Given the description of an element on the screen output the (x, y) to click on. 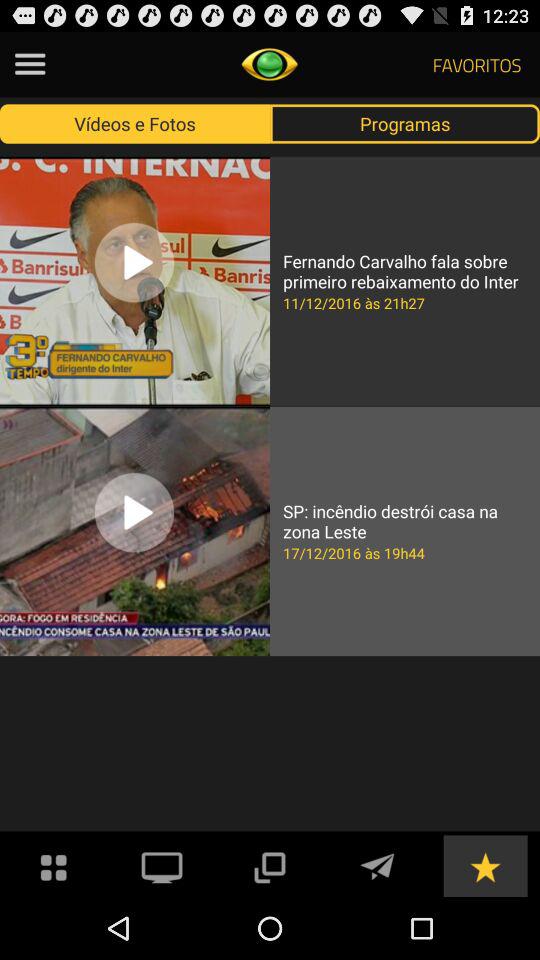
open gallery (54, 865)
